Given the description of an element on the screen output the (x, y) to click on. 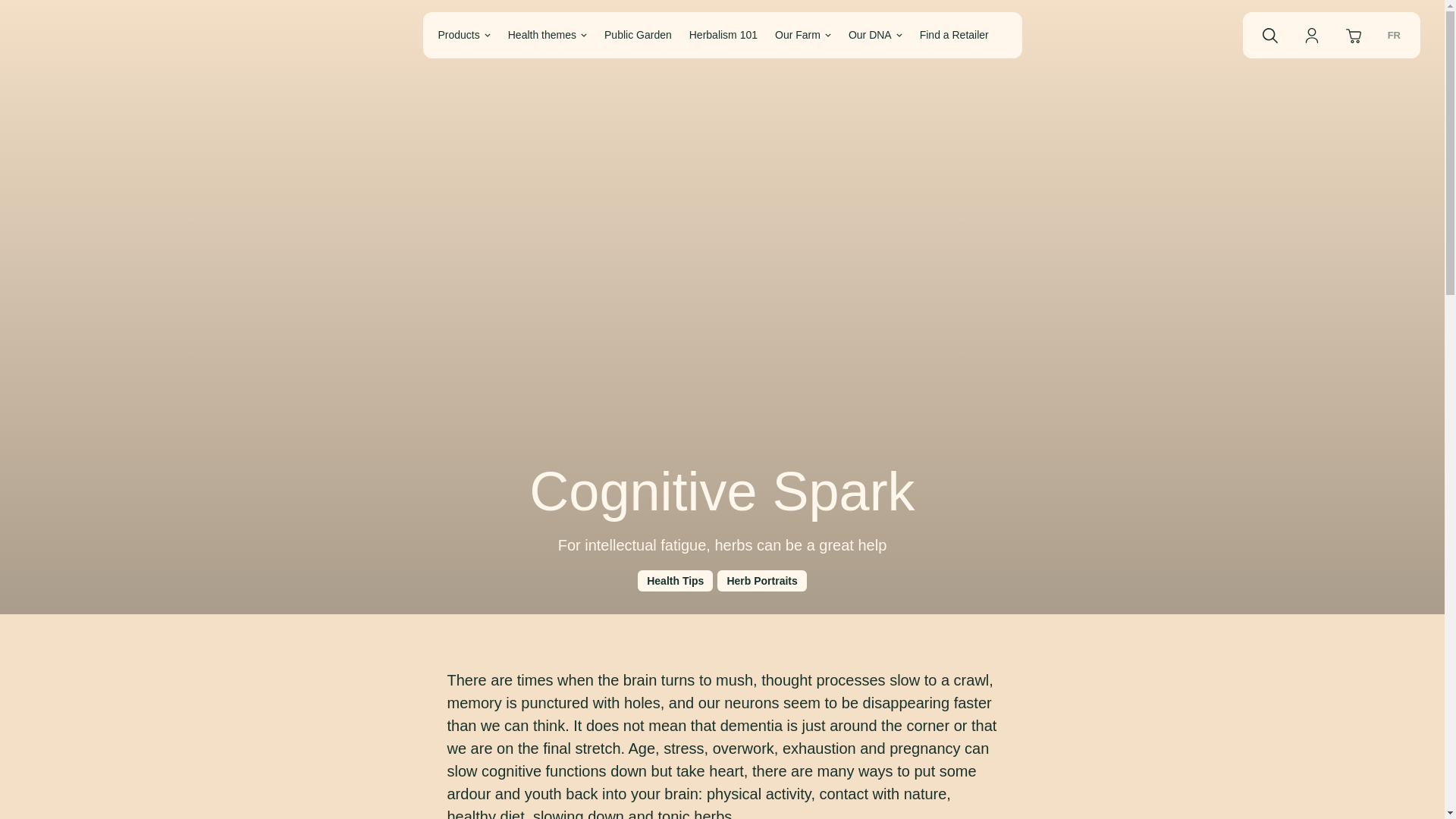
Products (463, 34)
Health themes (547, 34)
FR (1332, 35)
